Given the description of an element on the screen output the (x, y) to click on. 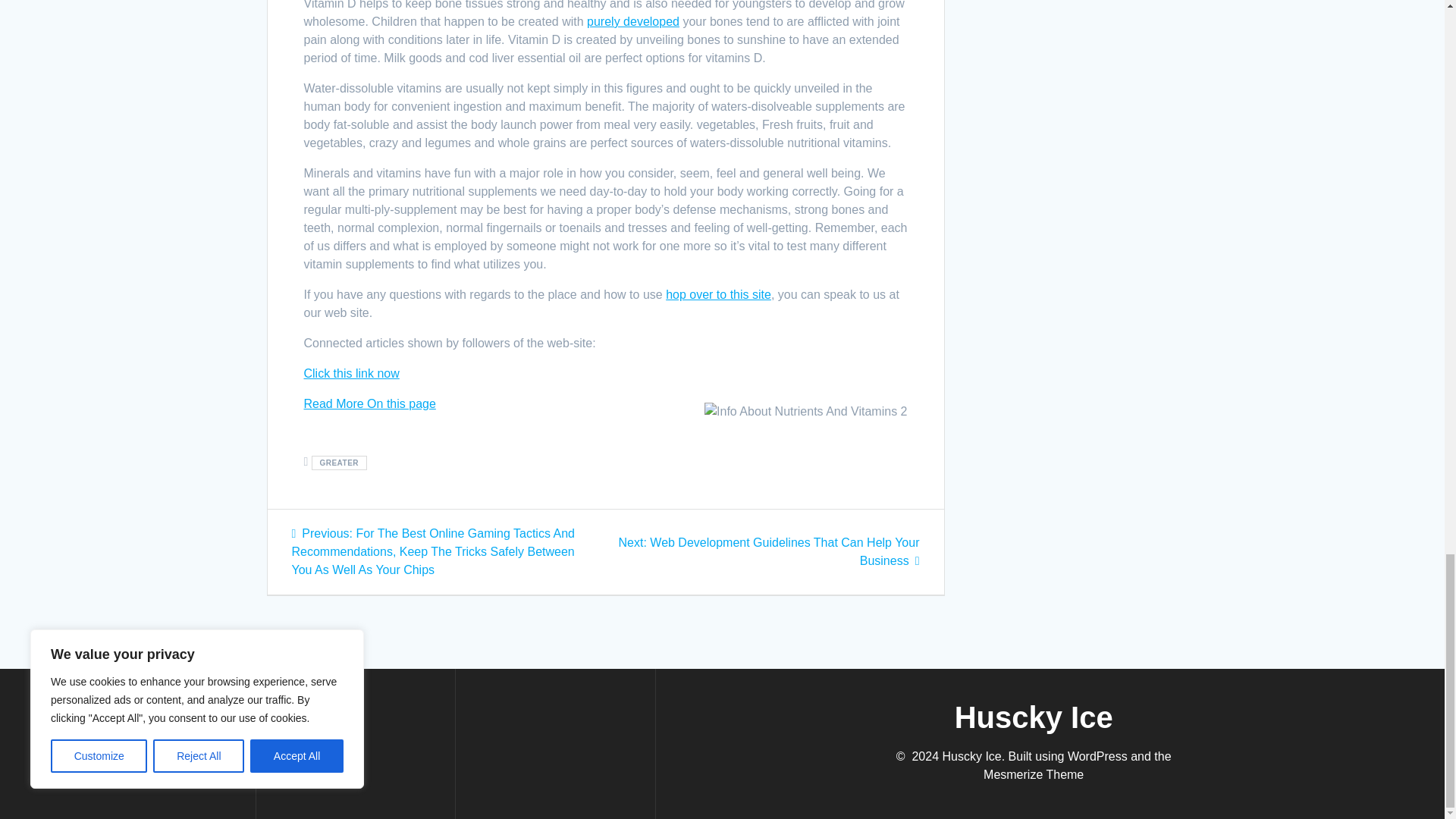
GREATER (338, 462)
Read More On this page (368, 403)
purely developed (632, 21)
Click this link now (350, 373)
hop over to this site (718, 294)
